Given the description of an element on the screen output the (x, y) to click on. 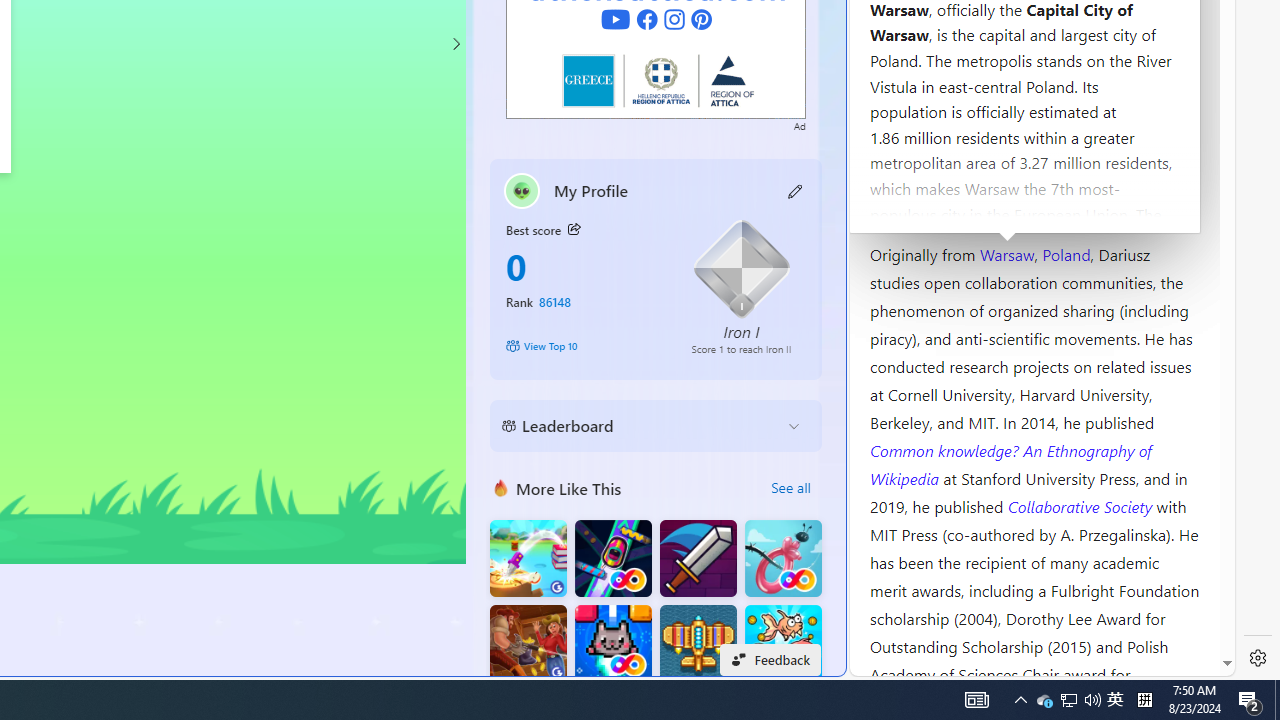
Class: button (574, 229)
Bumper Car FRVR (612, 558)
Atlantic Sky Hunter (698, 643)
See all (790, 487)
Kitten Force FRVR (612, 643)
Feedback (769, 659)
